Given the description of an element on the screen output the (x, y) to click on. 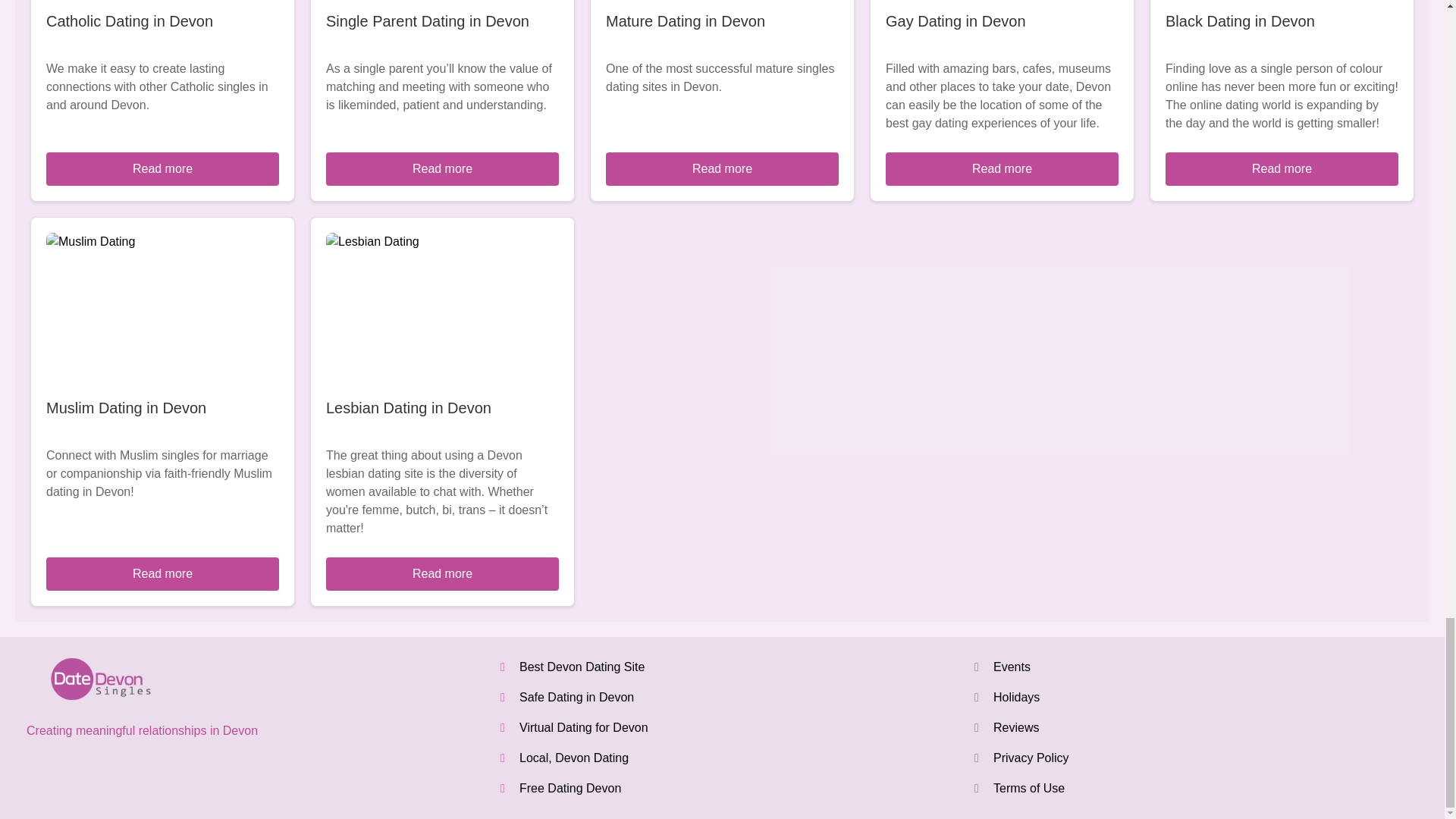
Holidays (1015, 697)
Privacy Policy (1030, 757)
Free Dating Devon (570, 788)
Events (1011, 666)
Read more (442, 573)
Safe Dating in Devon (576, 697)
Local, Devon Dating (573, 757)
Terms of Use (1028, 788)
Reviews (1015, 727)
Read more (442, 168)
Virtual Dating for Devon (583, 727)
Read more (1281, 168)
Best Devon Dating Site (582, 666)
Read more (721, 168)
Read more (1001, 168)
